Given the description of an element on the screen output the (x, y) to click on. 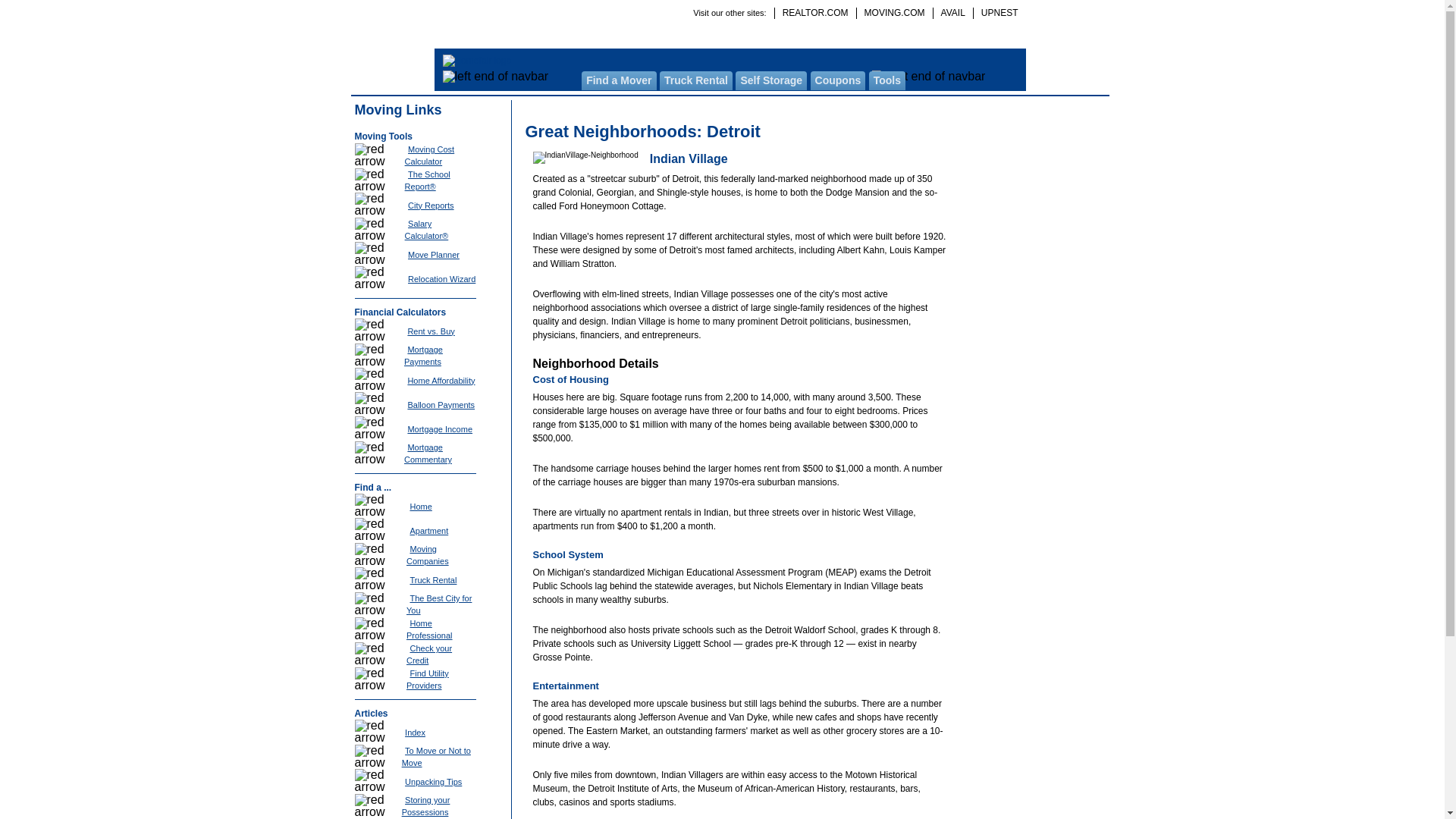
Coupons (838, 80)
Find Utility Providers (427, 679)
Home (419, 506)
Move Planner (433, 254)
UPNEST (994, 12)
Truck Rental (695, 80)
REALTOR.COM (815, 12)
The Best City for You (438, 604)
Mortgage Commentary (427, 453)
Truck Rental (433, 578)
To Move or Not to Move (435, 756)
Apartment (428, 530)
Unpacking Tips (432, 780)
Home Affordability (440, 379)
Balloon Payments (440, 404)
